Given the description of an element on the screen output the (x, y) to click on. 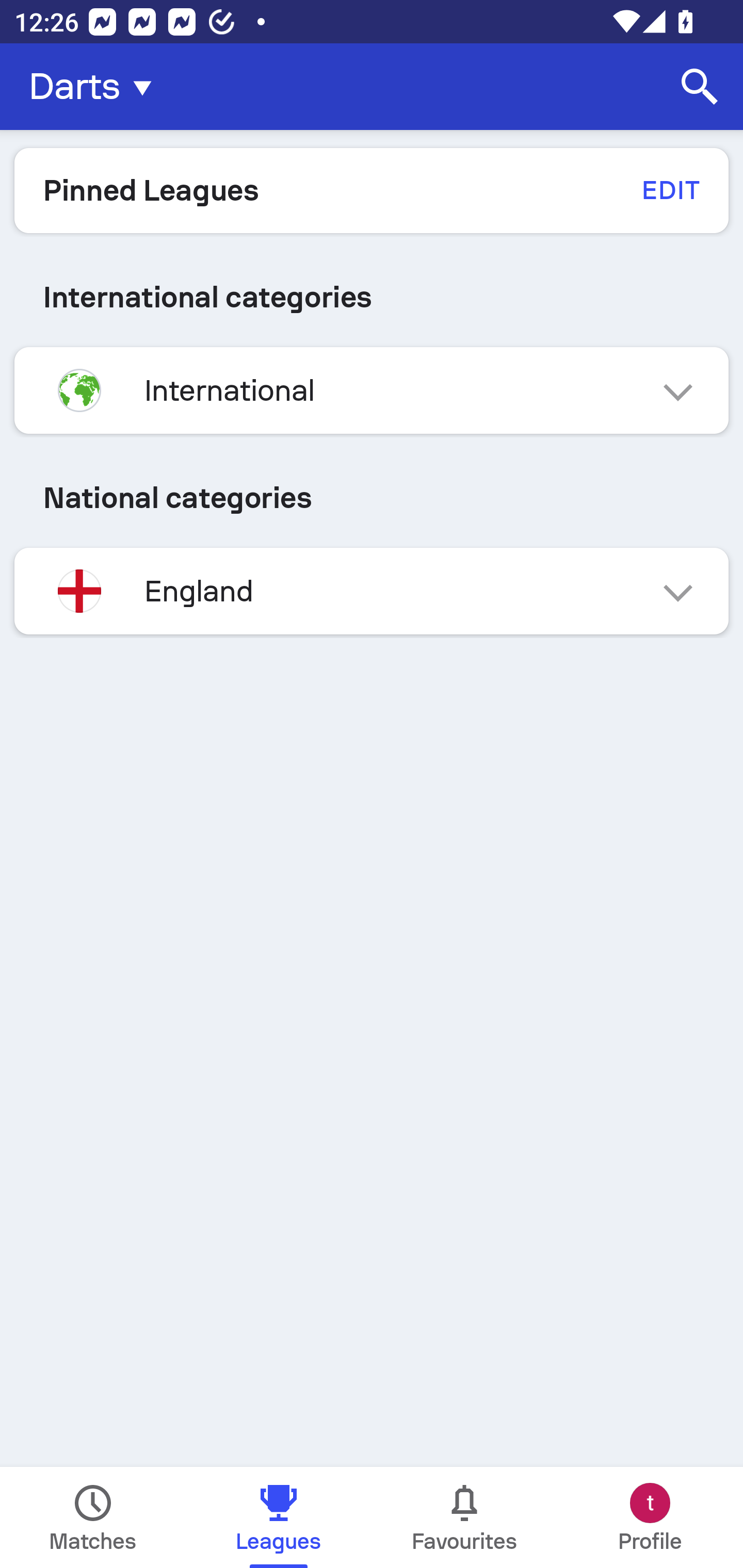
Darts (96, 86)
Search (699, 86)
Pinned Leagues EDIT (371, 190)
EDIT (670, 190)
International categories (371, 296)
International (371, 390)
National categories (371, 497)
England (371, 591)
Matches (92, 1517)
Favourites (464, 1517)
Profile (650, 1517)
